Given the description of an element on the screen output the (x, y) to click on. 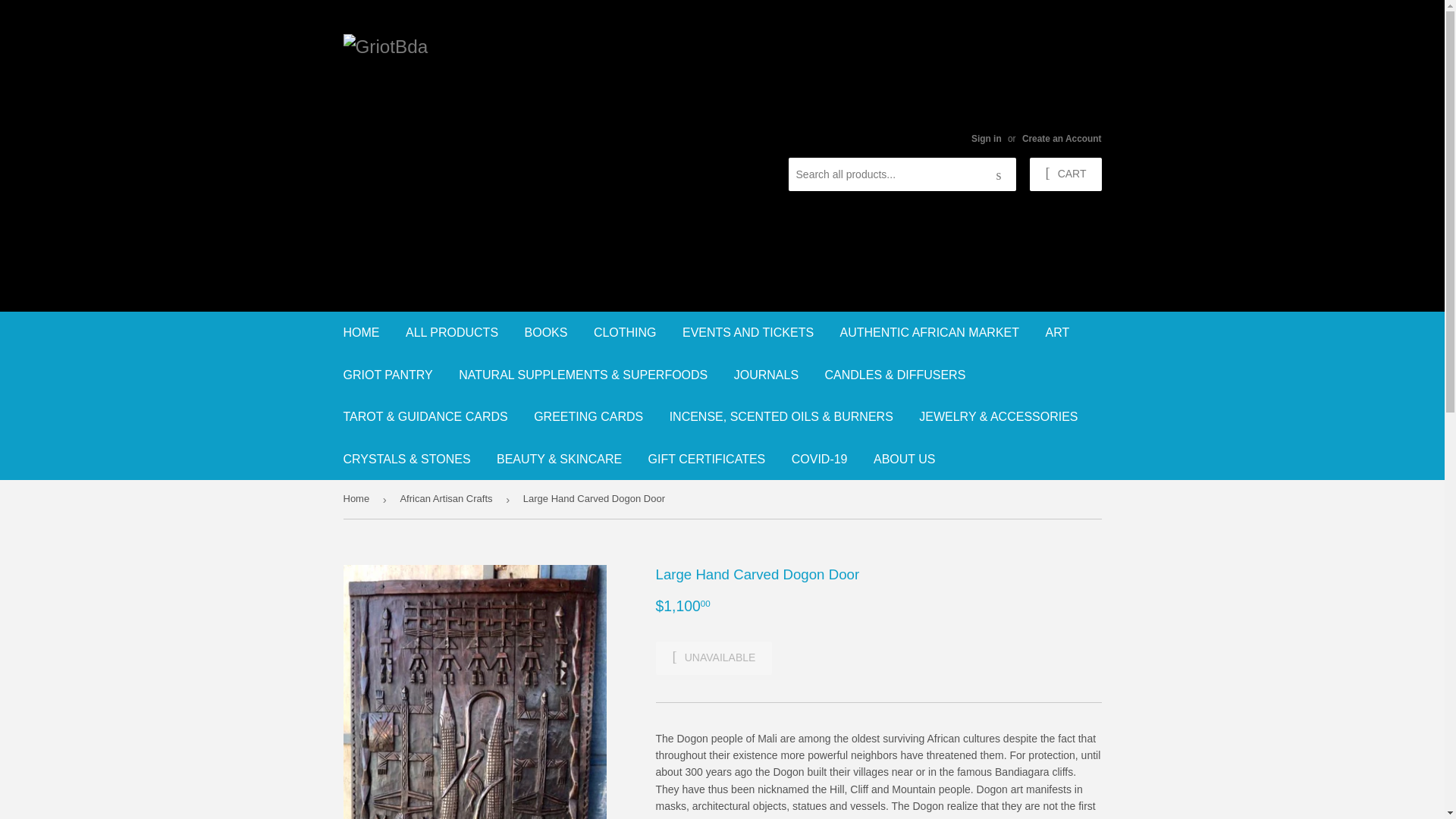
BOOKS (546, 332)
JOURNALS (765, 373)
HOME (361, 332)
Create an Account (1062, 138)
ALL PRODUCTS (451, 332)
EVENTS AND TICKETS (748, 332)
Sign in (986, 138)
Search (998, 174)
CLOTHING (625, 332)
GRIOT PANTRY (387, 373)
